Given the description of an element on the screen output the (x, y) to click on. 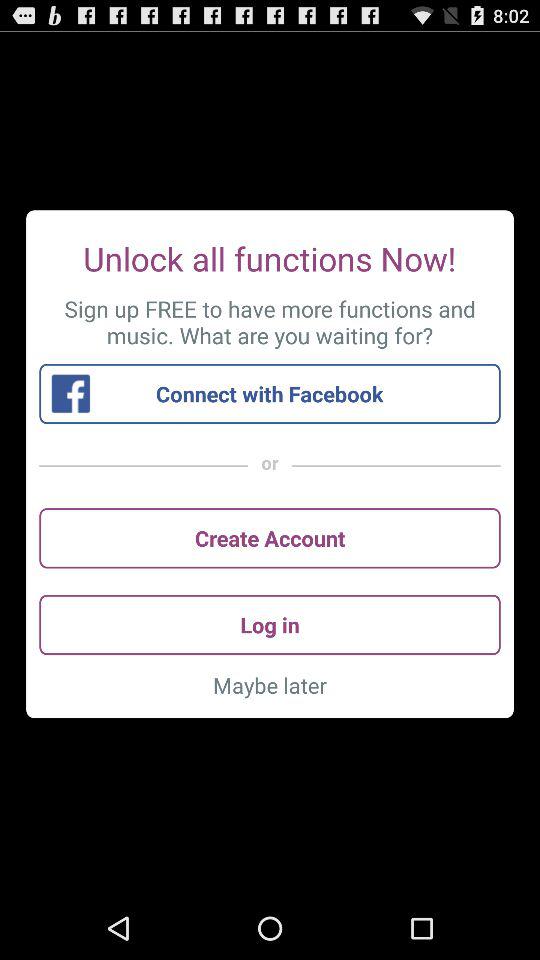
click the button above maybe later (269, 624)
